Given the description of an element on the screen output the (x, y) to click on. 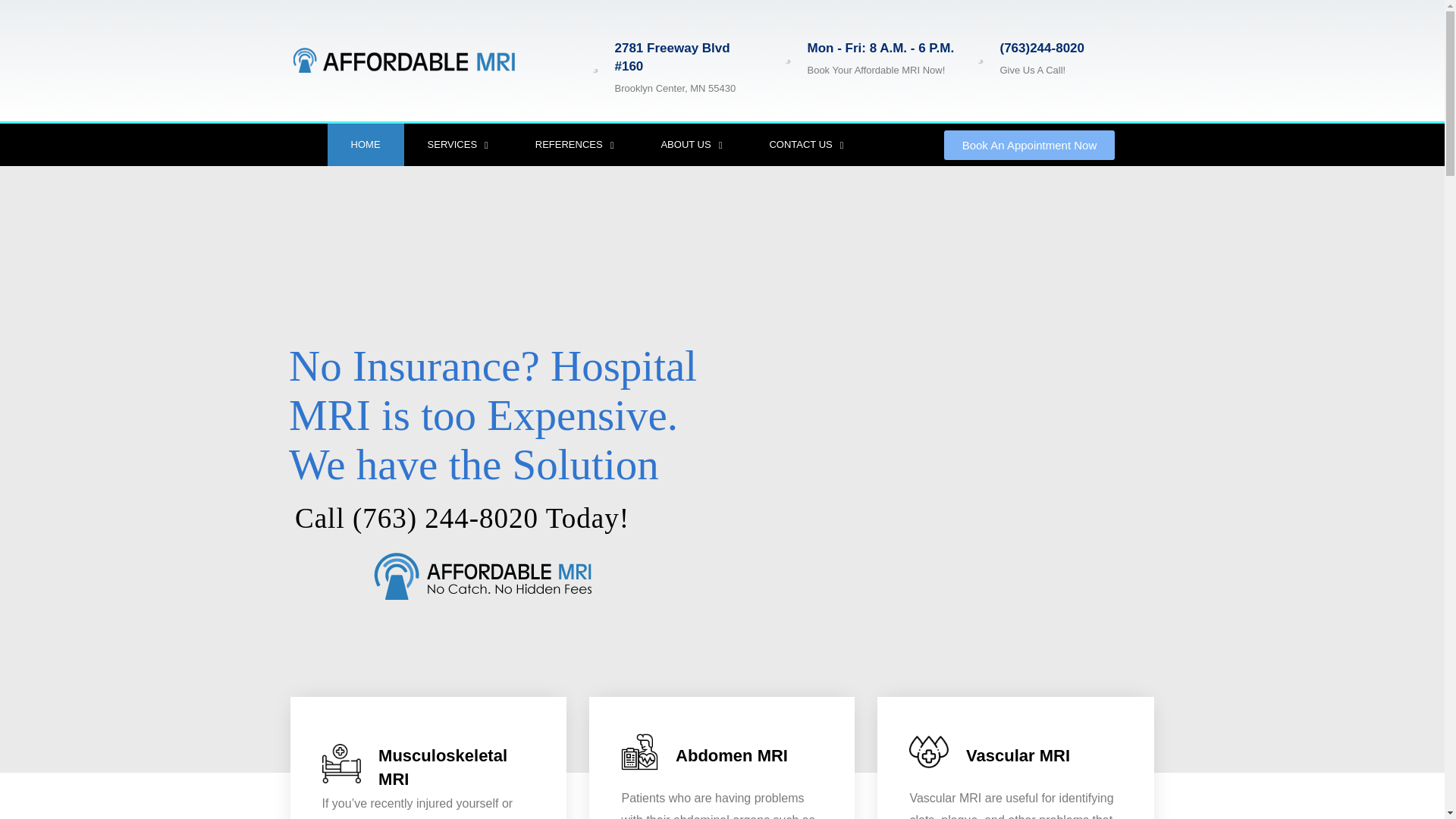
ABOUT US (691, 144)
CONTACT US (805, 144)
SERVICES (458, 144)
REFERENCES (574, 144)
HOME (365, 144)
